Given the description of an element on the screen output the (x, y) to click on. 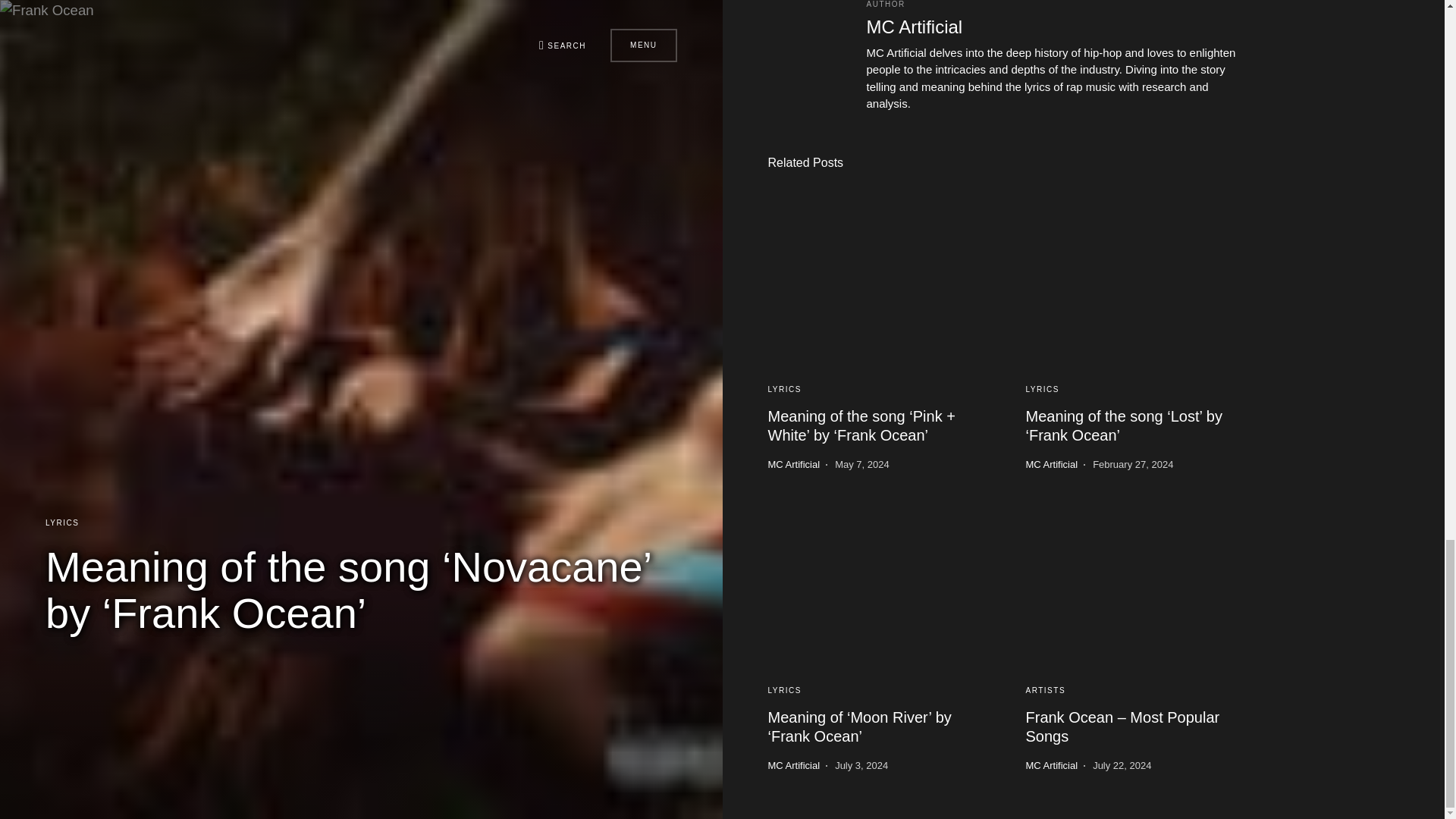
View all posts by MC Artificial (793, 765)
View all posts by MC Artificial (1051, 464)
View all posts by MC Artificial (1051, 765)
View all posts by MC Artificial (793, 464)
